Given the description of an element on the screen output the (x, y) to click on. 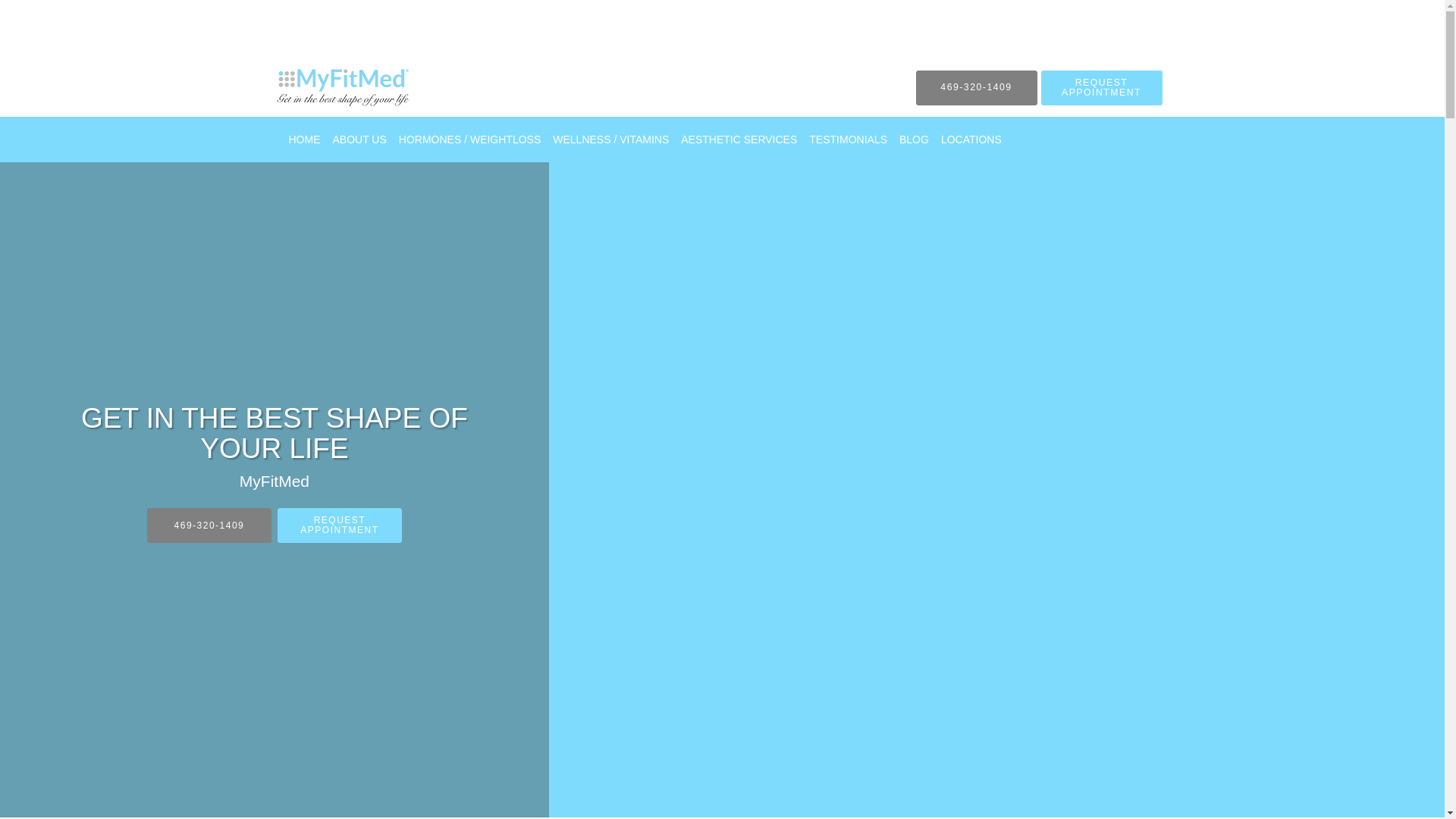
469-320-1409 (975, 87)
AESTHETIC SERVICES (739, 139)
ABOUT US (358, 139)
HOME (304, 139)
TESTIMONIALS (848, 139)
REQUEST APPOINTMENT (1101, 87)
